Given the description of an element on the screen output the (x, y) to click on. 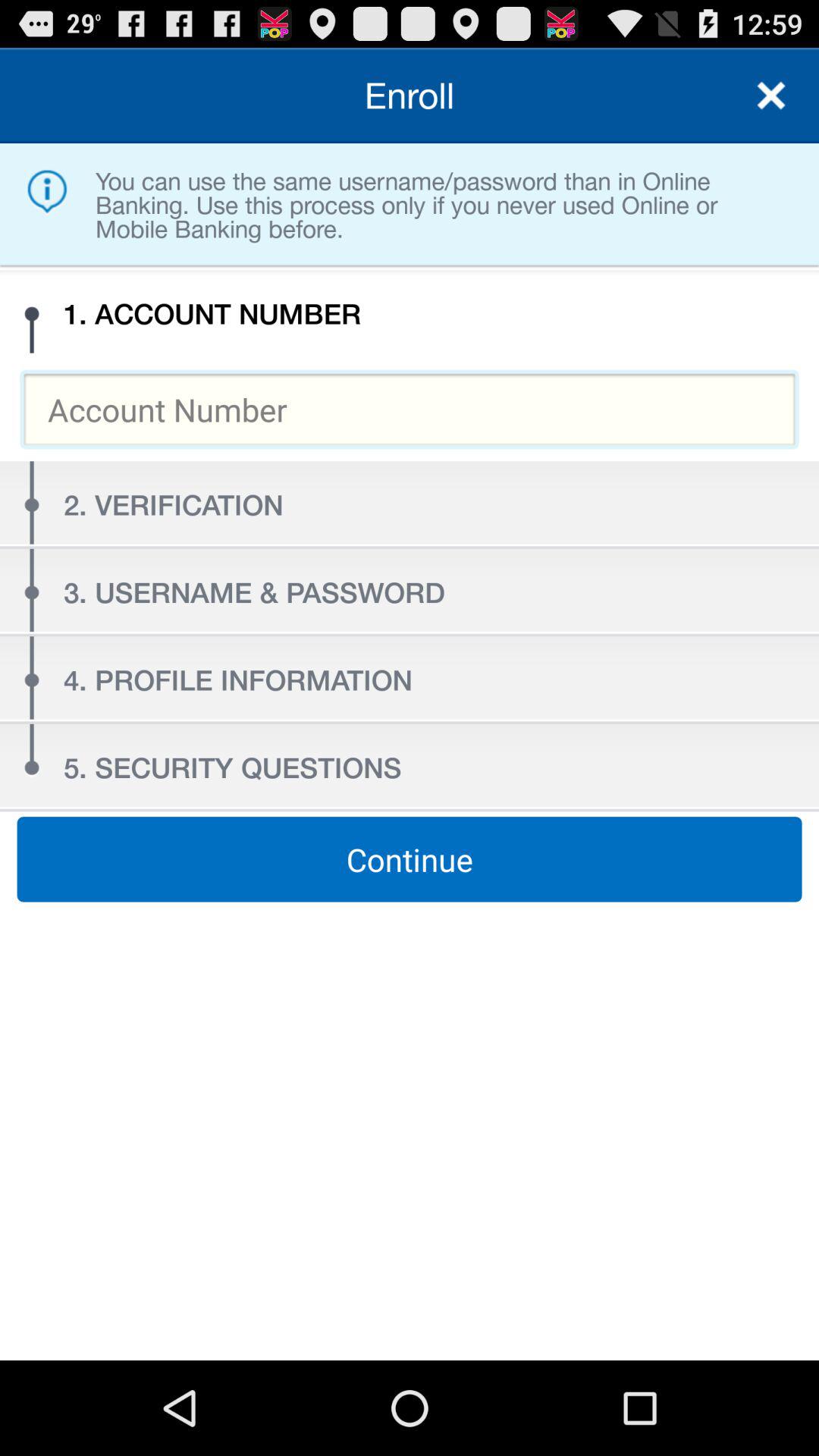
account number field (409, 409)
